Given the description of an element on the screen output the (x, y) to click on. 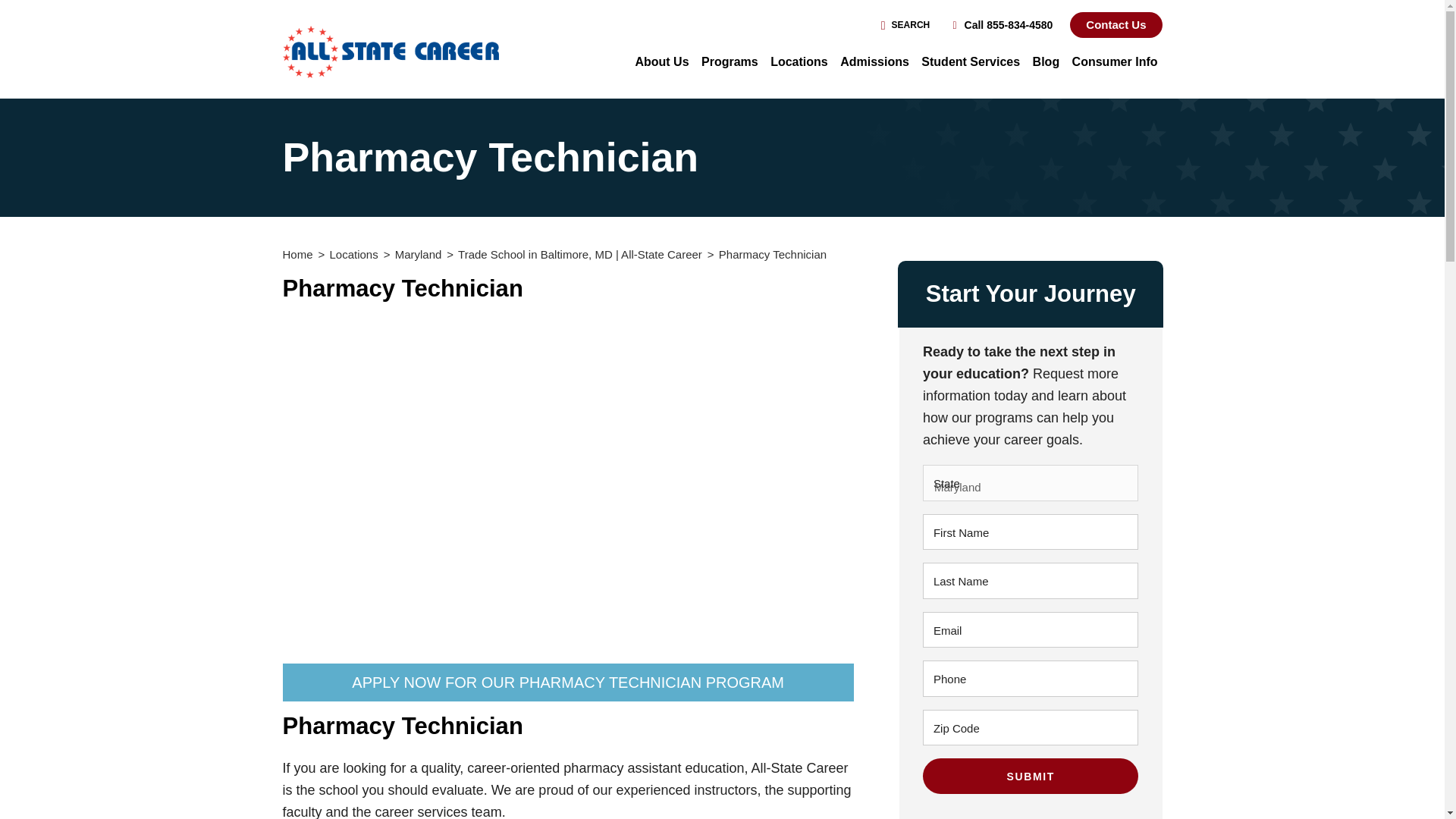
Locations (799, 62)
Blog (1045, 62)
Student Services (970, 62)
Admissions (874, 62)
Contact Us (1115, 24)
Call 855-834-4580 (1002, 24)
Programs (729, 62)
About Us (661, 62)
